Given the description of an element on the screen output the (x, y) to click on. 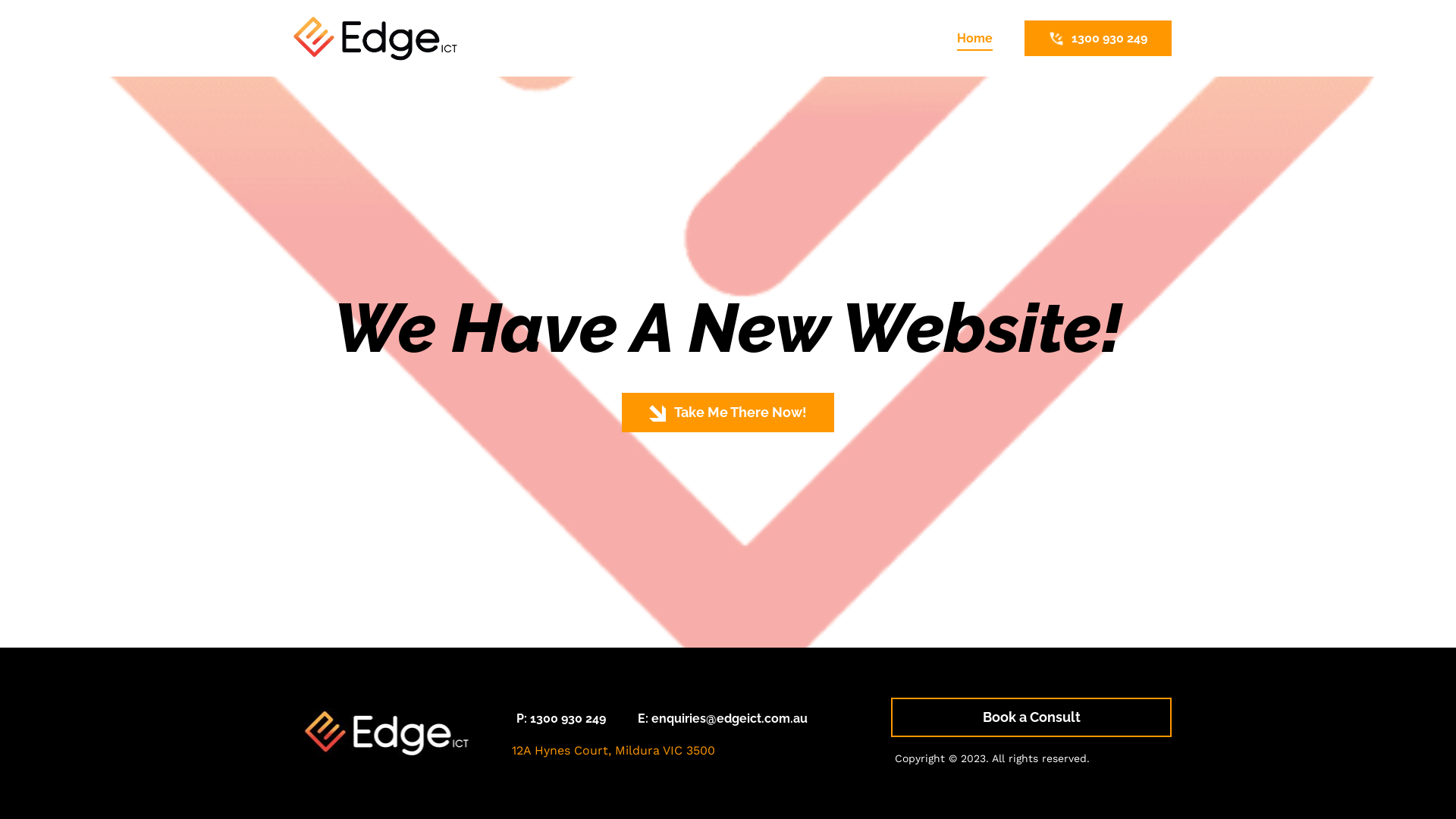
Home Element type: text (974, 37)
1300 930 249 Element type: text (1097, 38)
Take Me There Now! Element type: text (727, 412)
Book a Consult Element type: text (1031, 717)
P: 1300 930 249 Element type: text (560, 718)
E: enquiries@edgeict.com.au Element type: text (722, 718)
